Given the description of an element on the screen output the (x, y) to click on. 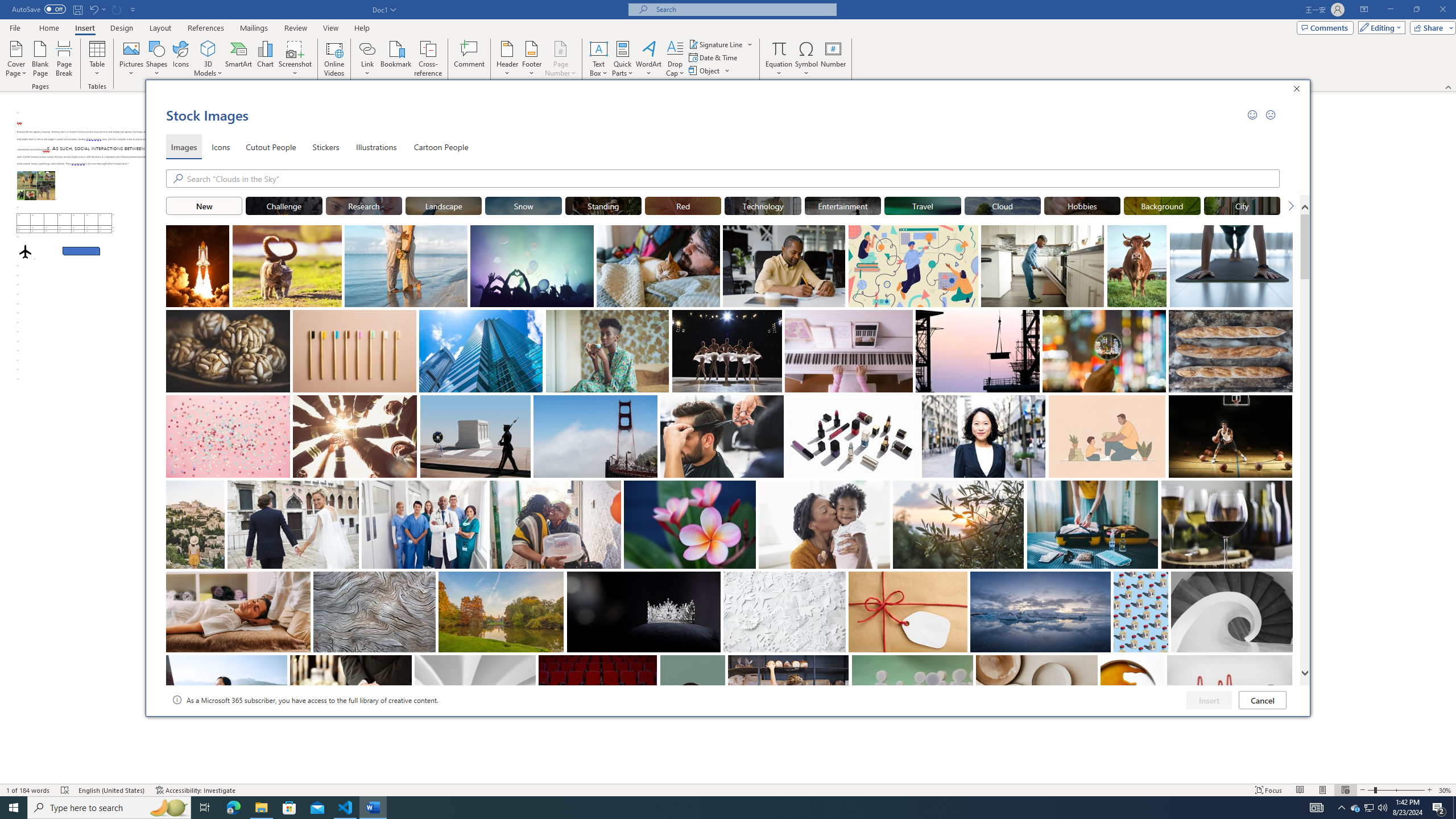
Screenshot (295, 58)
Language English (United States) (111, 790)
Print Layout (1322, 790)
"Travel" Stock Images. (921, 205)
Spelling and Grammar Check Errors (65, 790)
Next Search Suggestion (1290, 205)
Quick Access Toolbar (74, 9)
Insert (83, 28)
"City" Stock Images. (1241, 205)
File Explorer - 1 running window (261, 807)
Comment (469, 58)
